Given the description of an element on the screen output the (x, y) to click on. 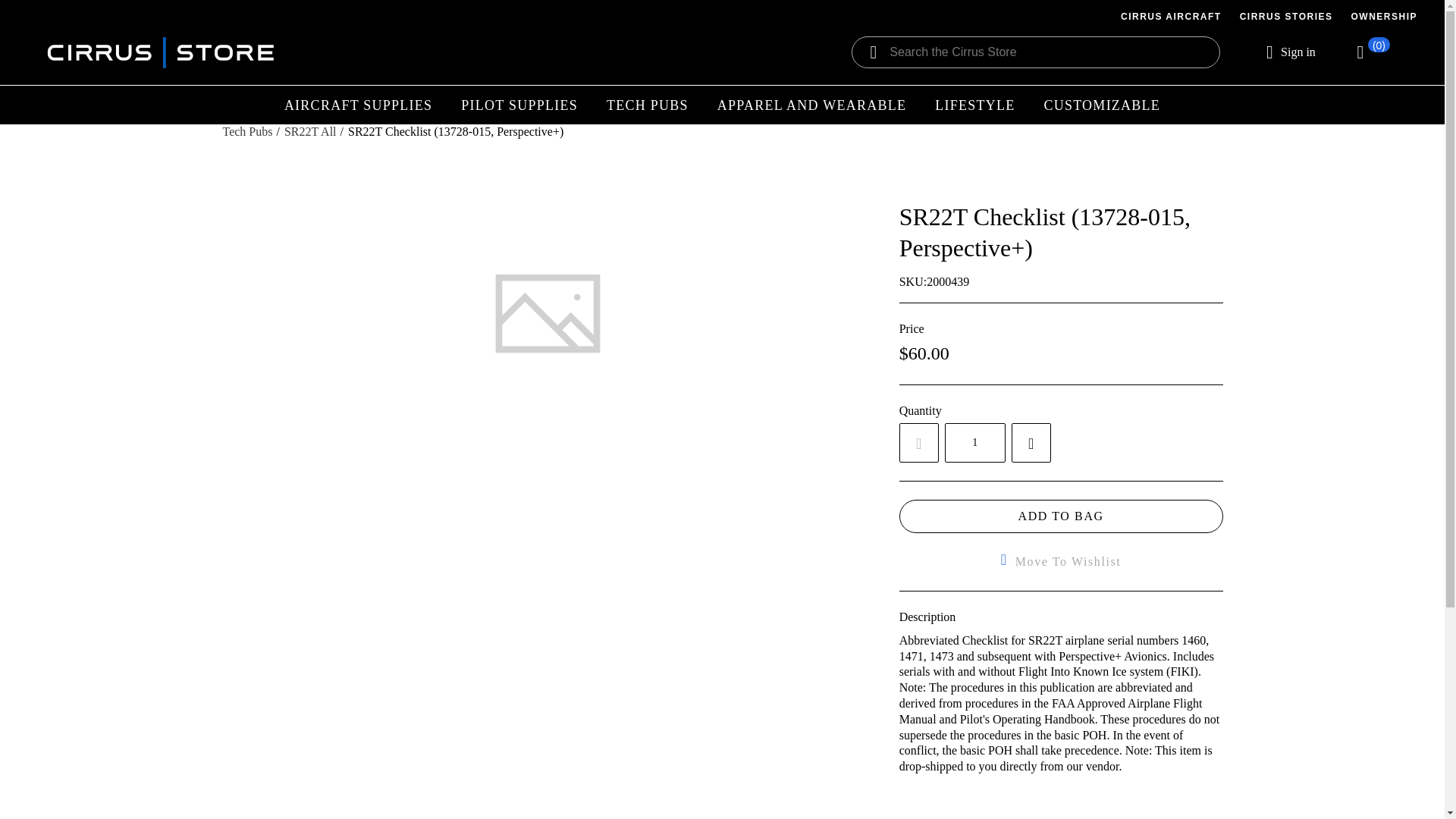
Tech Pubs (247, 131)
Sign in (1291, 52)
ADD TO BAG (1061, 516)
OWNERSHIP (1383, 16)
AIRCRAFT SUPPLIES (358, 105)
PILOT SUPPLIES (519, 105)
LIFESTYLE (975, 105)
TECH PUBS (647, 105)
2024-Cirrus-Store-White-302x45.png (160, 51)
SR22T All (310, 131)
